Given the description of an element on the screen output the (x, y) to click on. 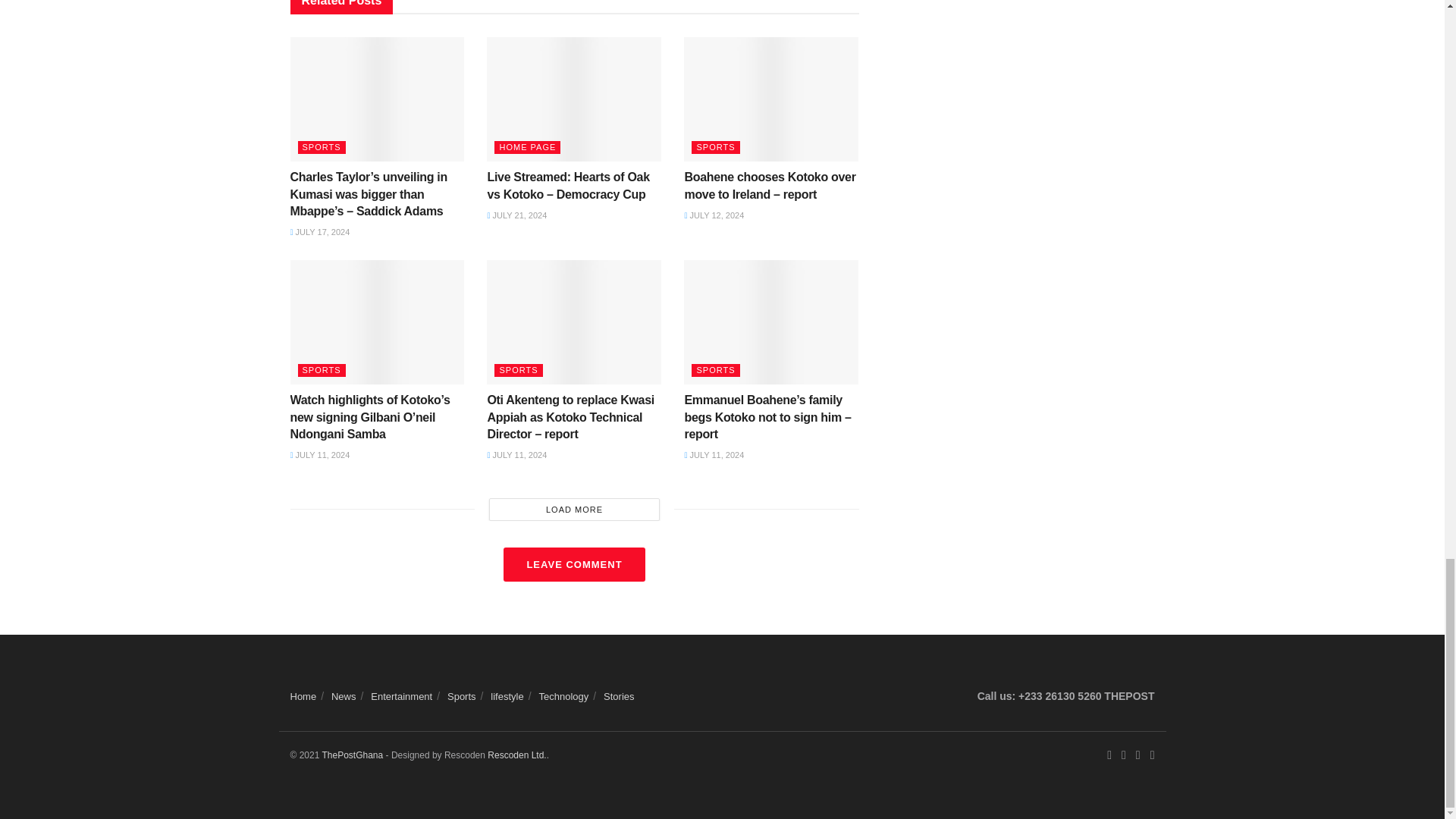
Informative News site in Ghana (351, 755)
Rescoden (516, 755)
